Given the description of an element on the screen output the (x, y) to click on. 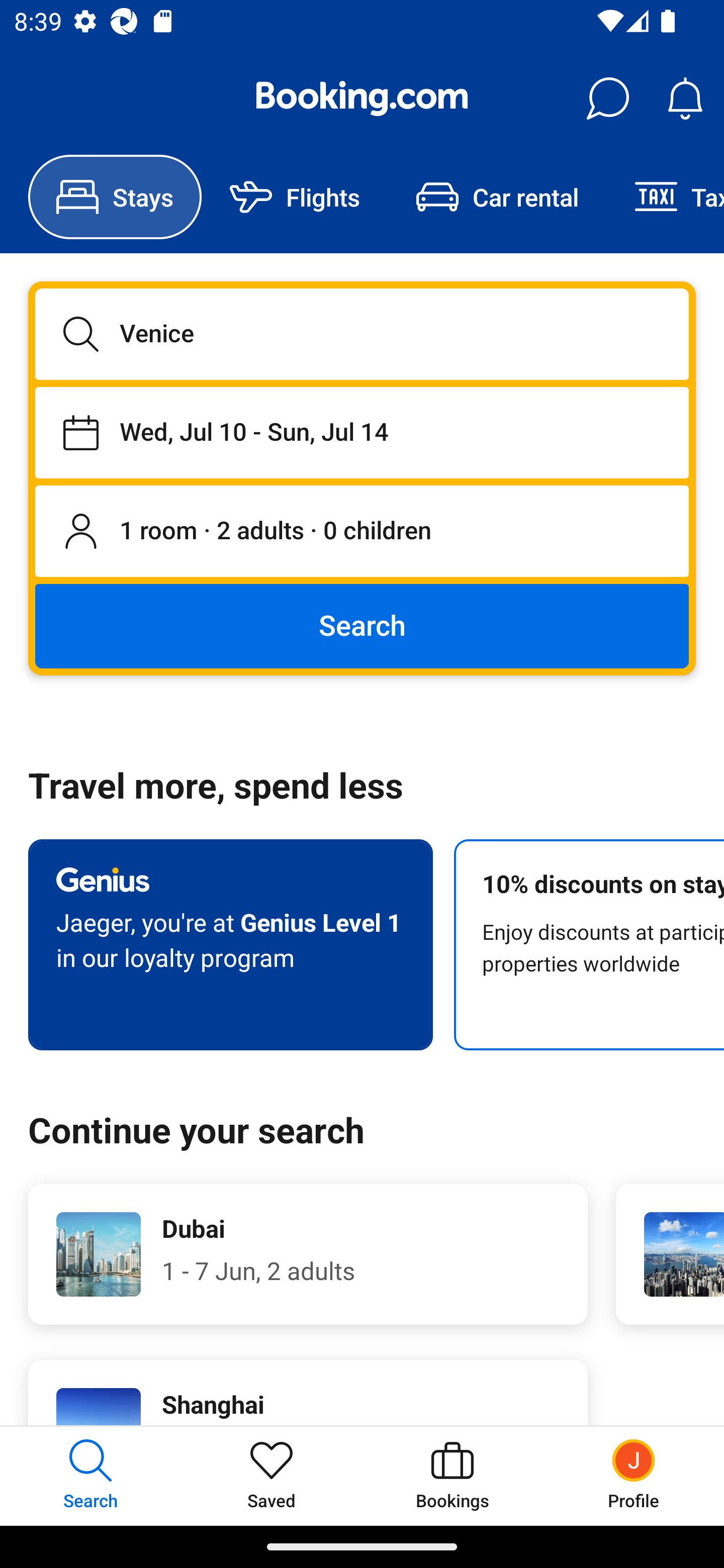
Messages (607, 98)
Notifications (685, 98)
Stays (114, 197)
Flights (294, 197)
Car rental (497, 197)
Taxi (665, 197)
Venice (361, 333)
Staying from Wed, Jul 10 until Sun, Jul 14 (361, 432)
1 room, 2 adults, 0 children (361, 531)
Search (361, 625)
Dubai 1 - 7 Jun, 2 adults (307, 1253)
Saved (271, 1475)
Bookings (452, 1475)
Profile (633, 1475)
